Given the description of an element on the screen output the (x, y) to click on. 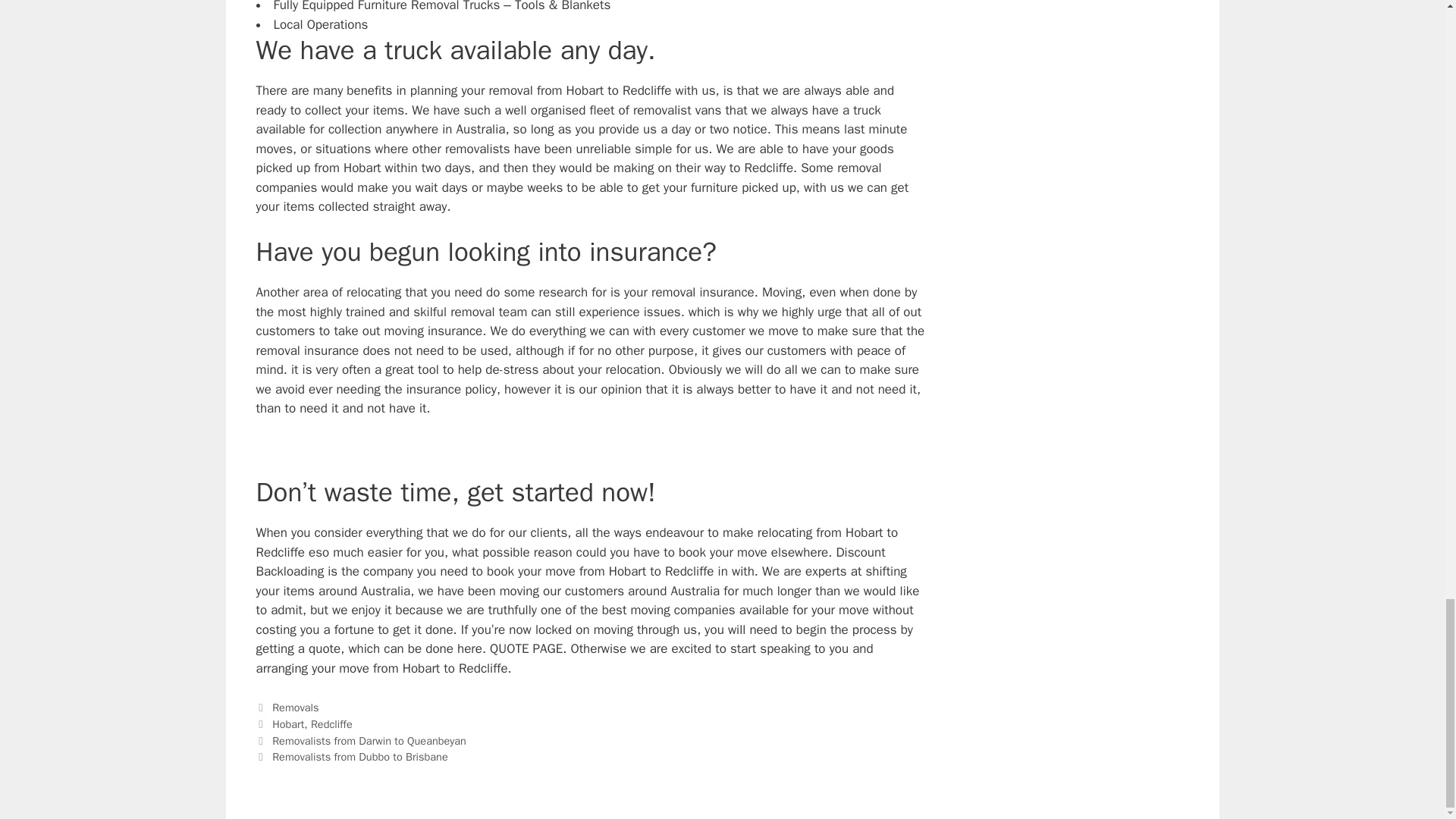
Removalists from Darwin to Queanbeyan (368, 740)
Redcliffe (331, 724)
Removalists from Dubbo to Brisbane (360, 756)
Hobart (288, 724)
Removals (295, 707)
